Given the description of an element on the screen output the (x, y) to click on. 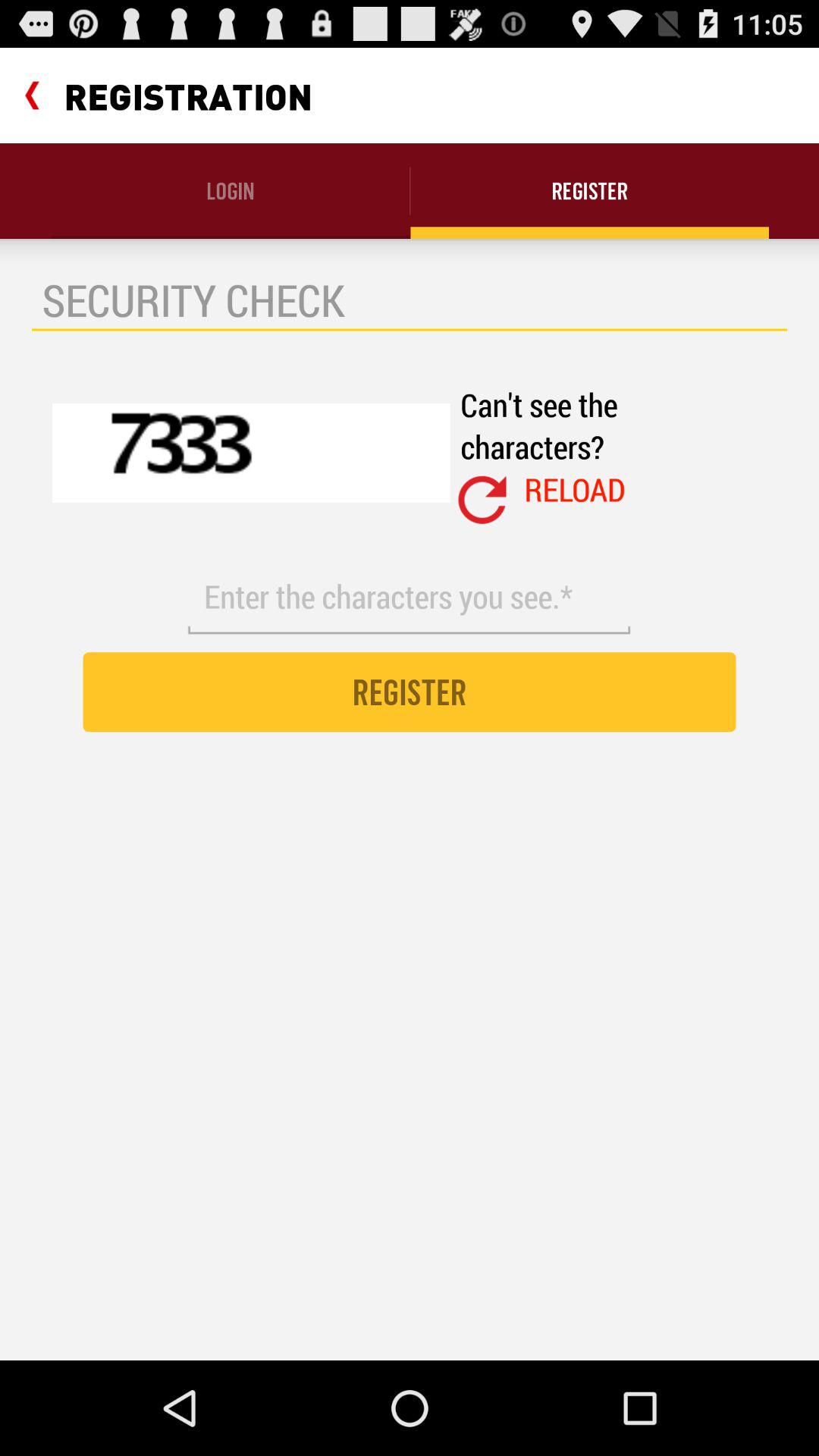
turn off the item to the left of reload icon (482, 499)
